Given the description of an element on the screen output the (x, y) to click on. 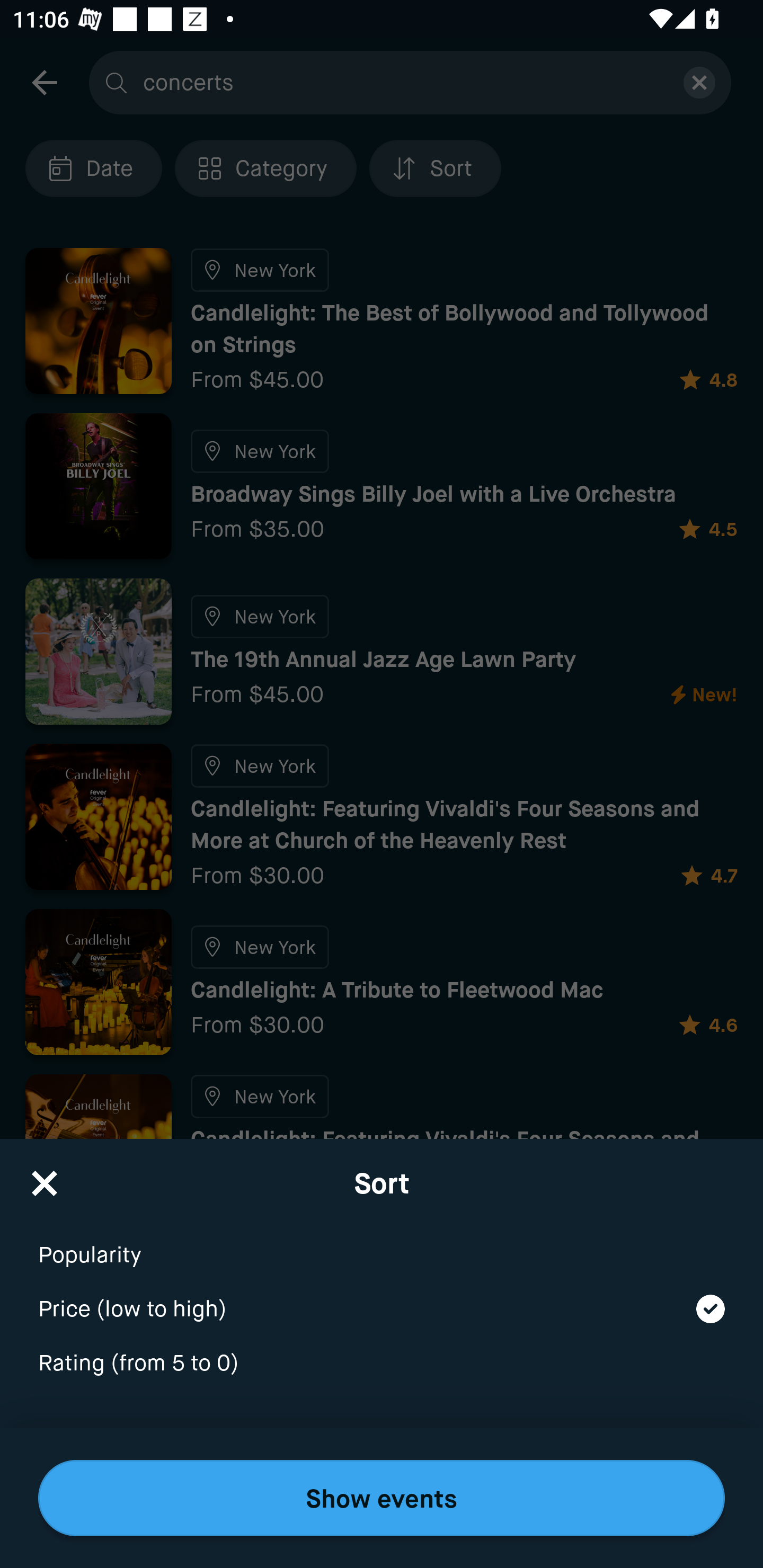
CloseButton (44, 1177)
Popularity (381, 1243)
Price (low to high) Selected Icon (381, 1297)
Rating (from 5 to 0) (381, 1362)
Show events (381, 1497)
